Given the description of an element on the screen output the (x, y) to click on. 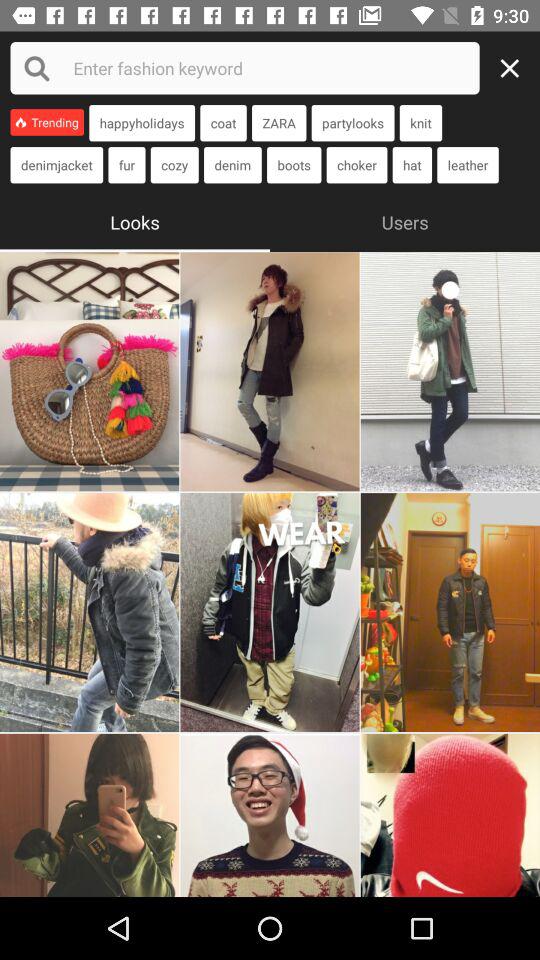
select that photo (269, 371)
